Given the description of an element on the screen output the (x, y) to click on. 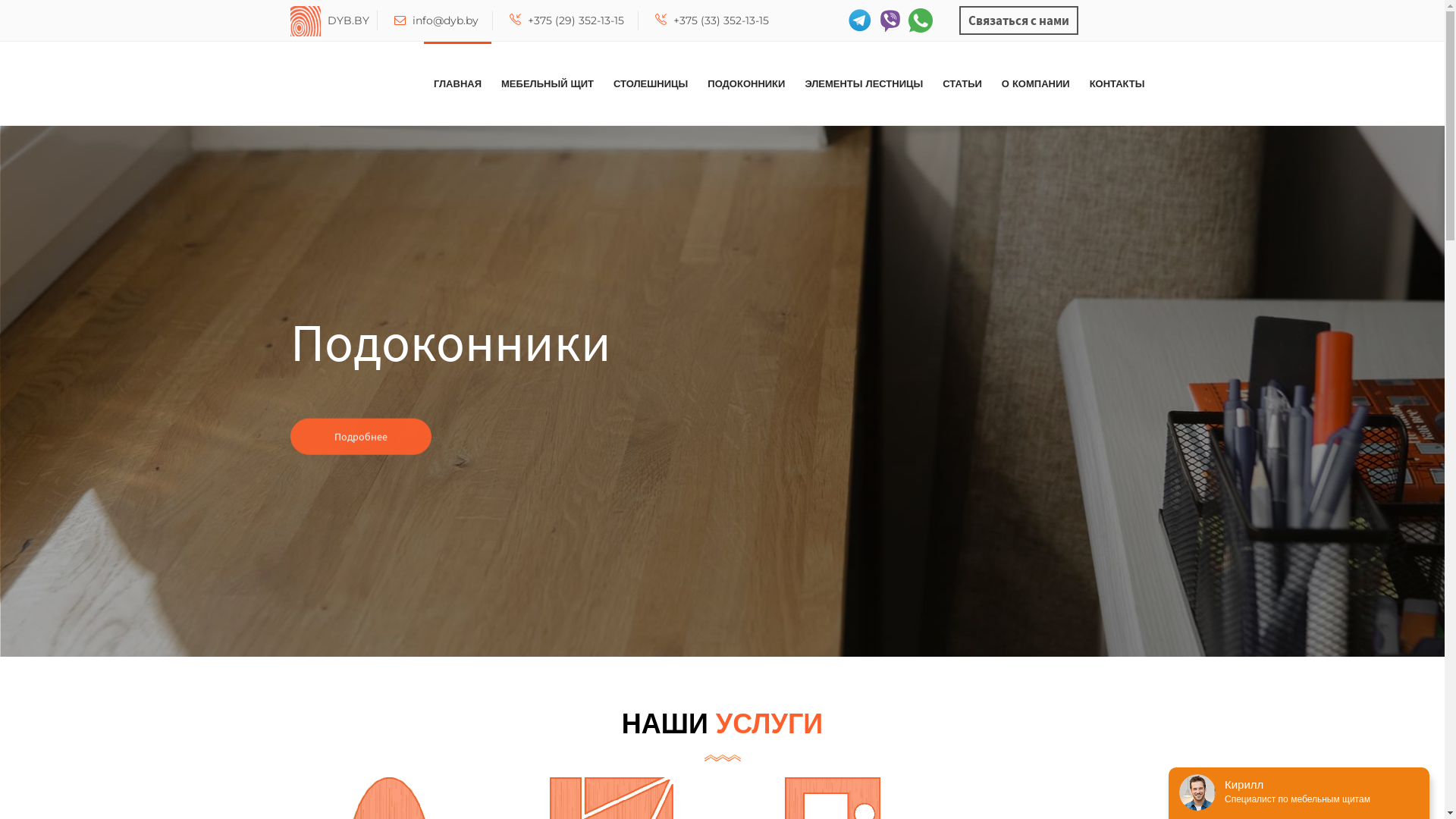
+375 (29) 352-13-15 Element type: text (566, 20)
+375 (33) 352-13-15 Element type: text (711, 20)
DYB.BY Element type: text (304, 19)
info@dyb.by Element type: text (436, 20)
